Given the description of an element on the screen output the (x, y) to click on. 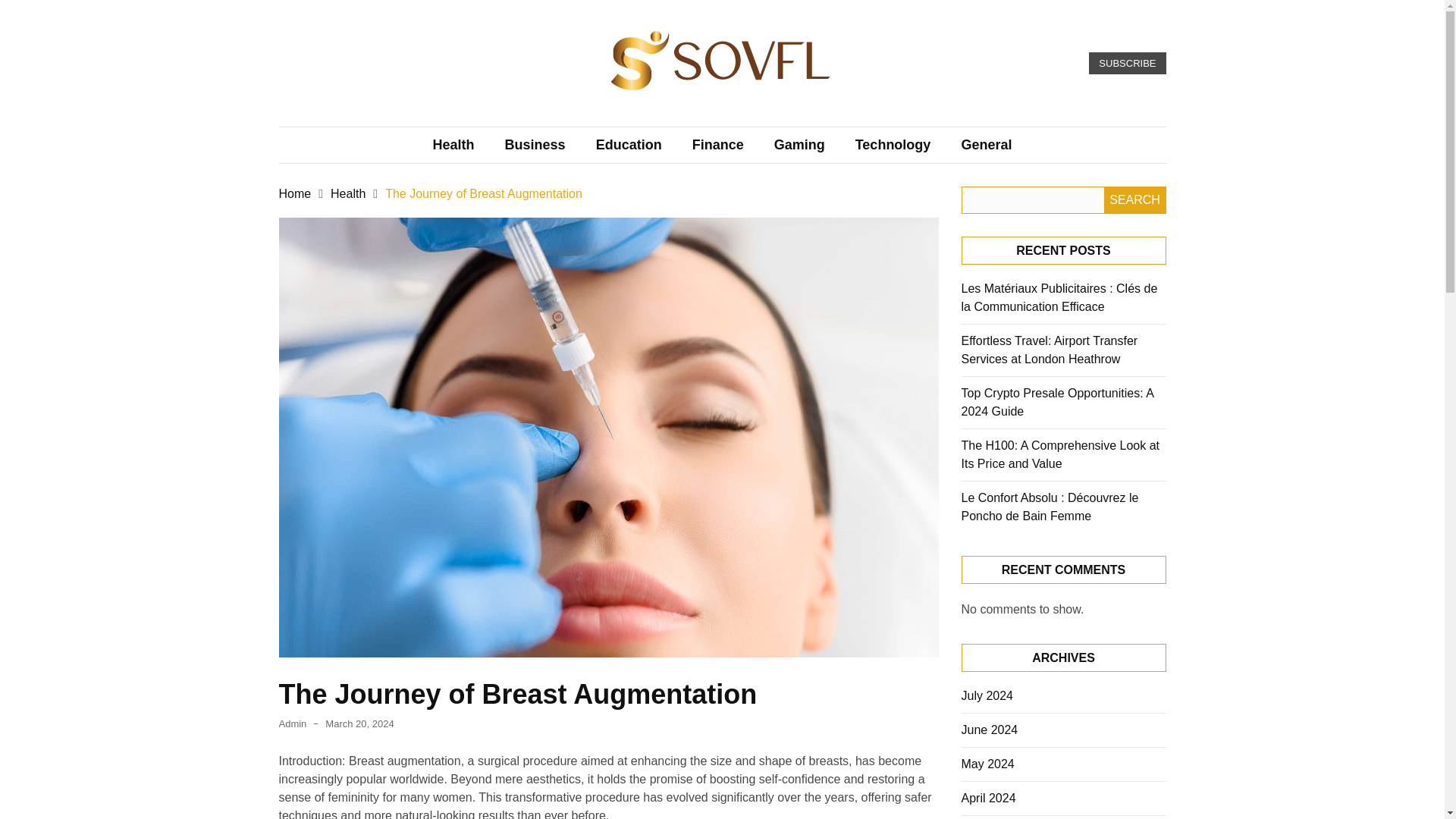
Home (295, 193)
Health (453, 145)
Sovfl (539, 119)
Health (347, 193)
Technology (893, 145)
The Journey of Breast Augmentation (483, 193)
General (985, 145)
Business (534, 145)
Finance (717, 145)
Education (628, 145)
Gaming (799, 145)
March 20, 2024 (358, 723)
SUBSCRIBE (1127, 63)
Admin (293, 723)
